Given the description of an element on the screen output the (x, y) to click on. 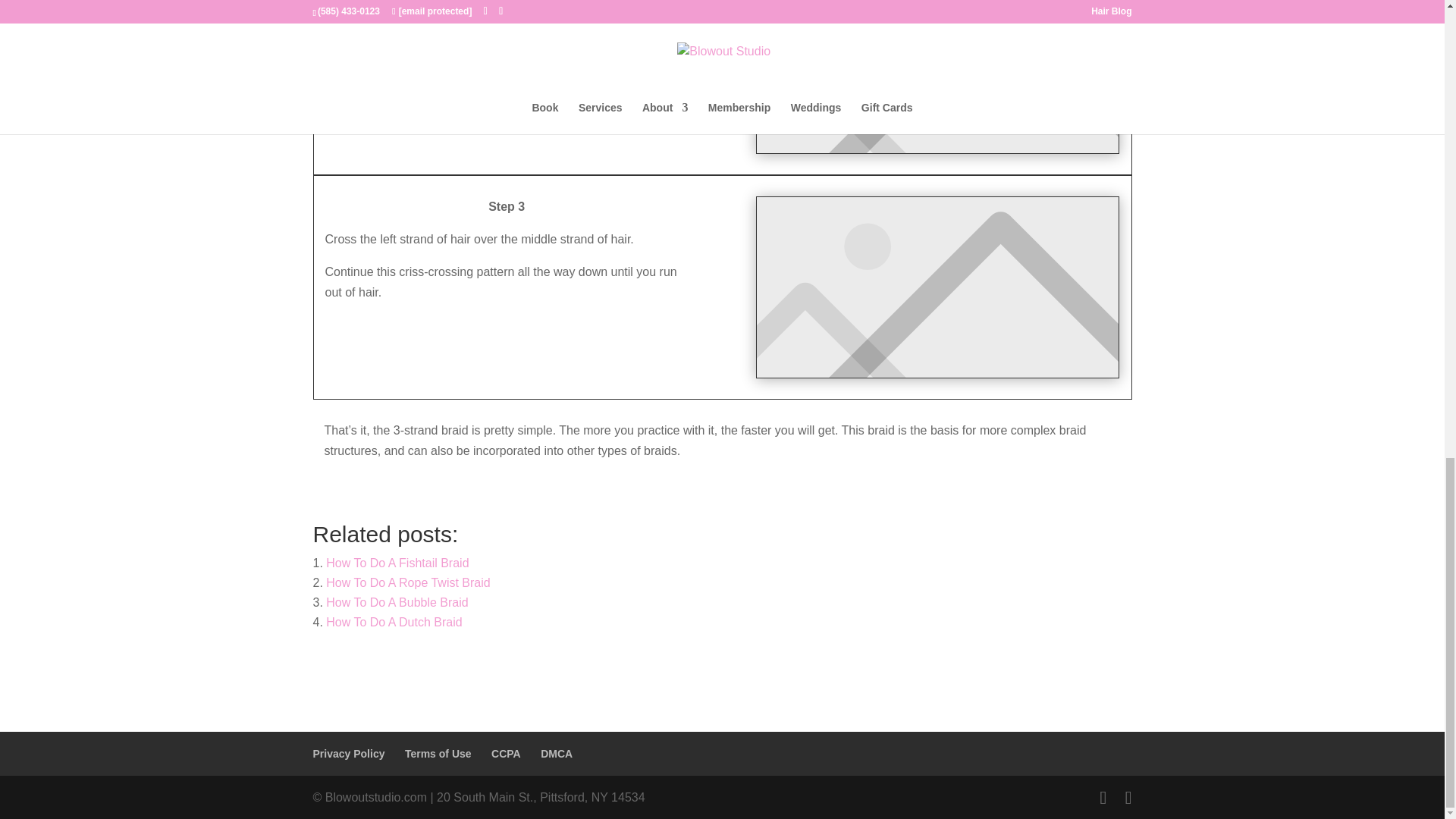
How To Do A Bubble Braid (396, 602)
How To Do A Rope Twist Braid (407, 582)
How To Do A Bubble Braid (396, 602)
How To Do A Fishtail Braid (397, 562)
How To Do A Dutch Braid (393, 621)
DMCA (556, 753)
Terms of Use (437, 753)
How To Do A Rope Twist Braid (407, 582)
CCPA (506, 753)
How To Do A Dutch Braid (393, 621)
How To Do A Fishtail Braid (397, 562)
Privacy Policy (348, 753)
